Given the description of an element on the screen output the (x, y) to click on. 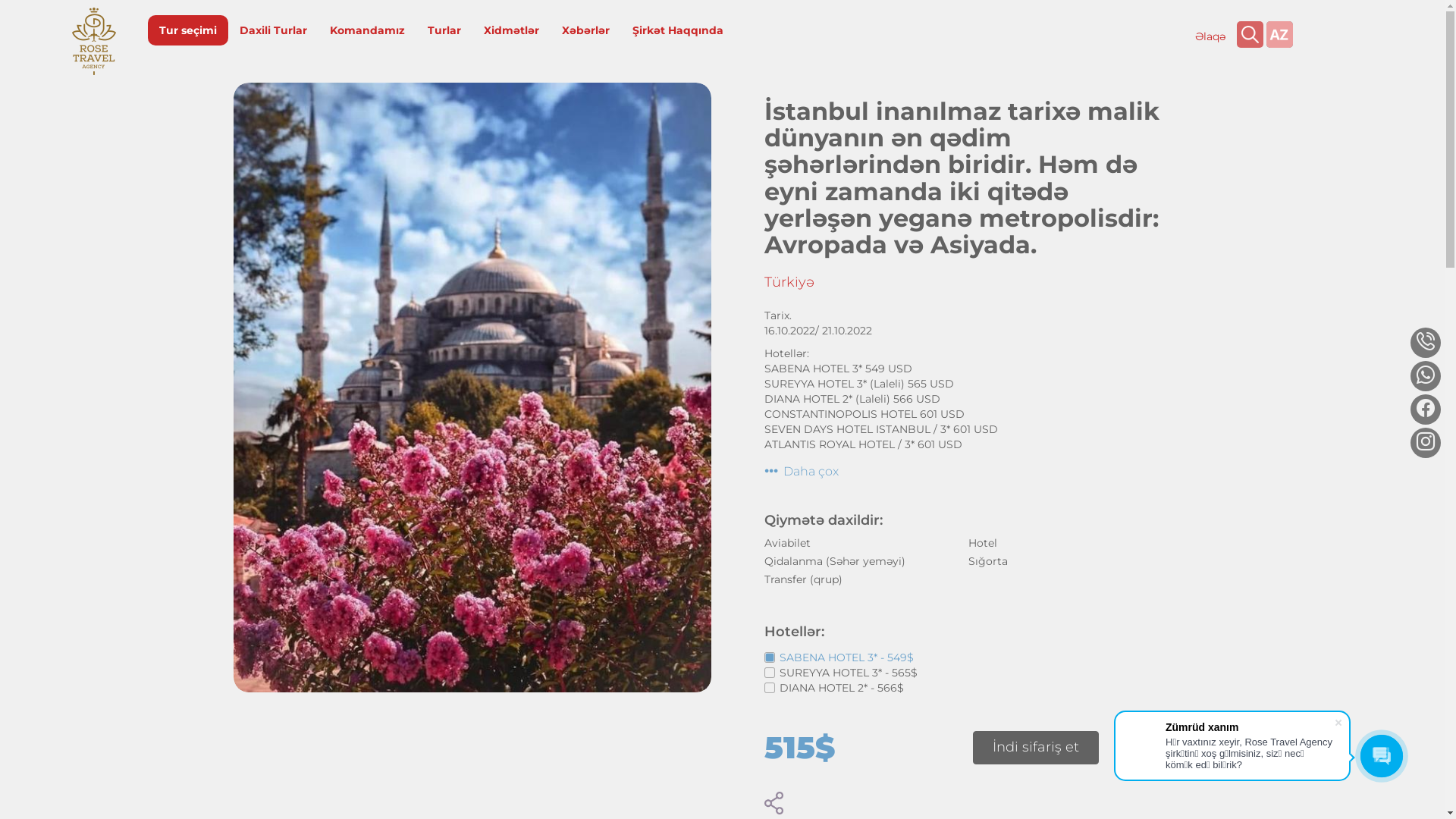
Daxili Turlar Element type: text (273, 30)
Search Element type: text (1249, 34)
Skip to main content Element type: text (0, 0)
Turlar Element type: text (444, 30)
+99412 4047688 Element type: text (1228, 127)
